Given the description of an element on the screen output the (x, y) to click on. 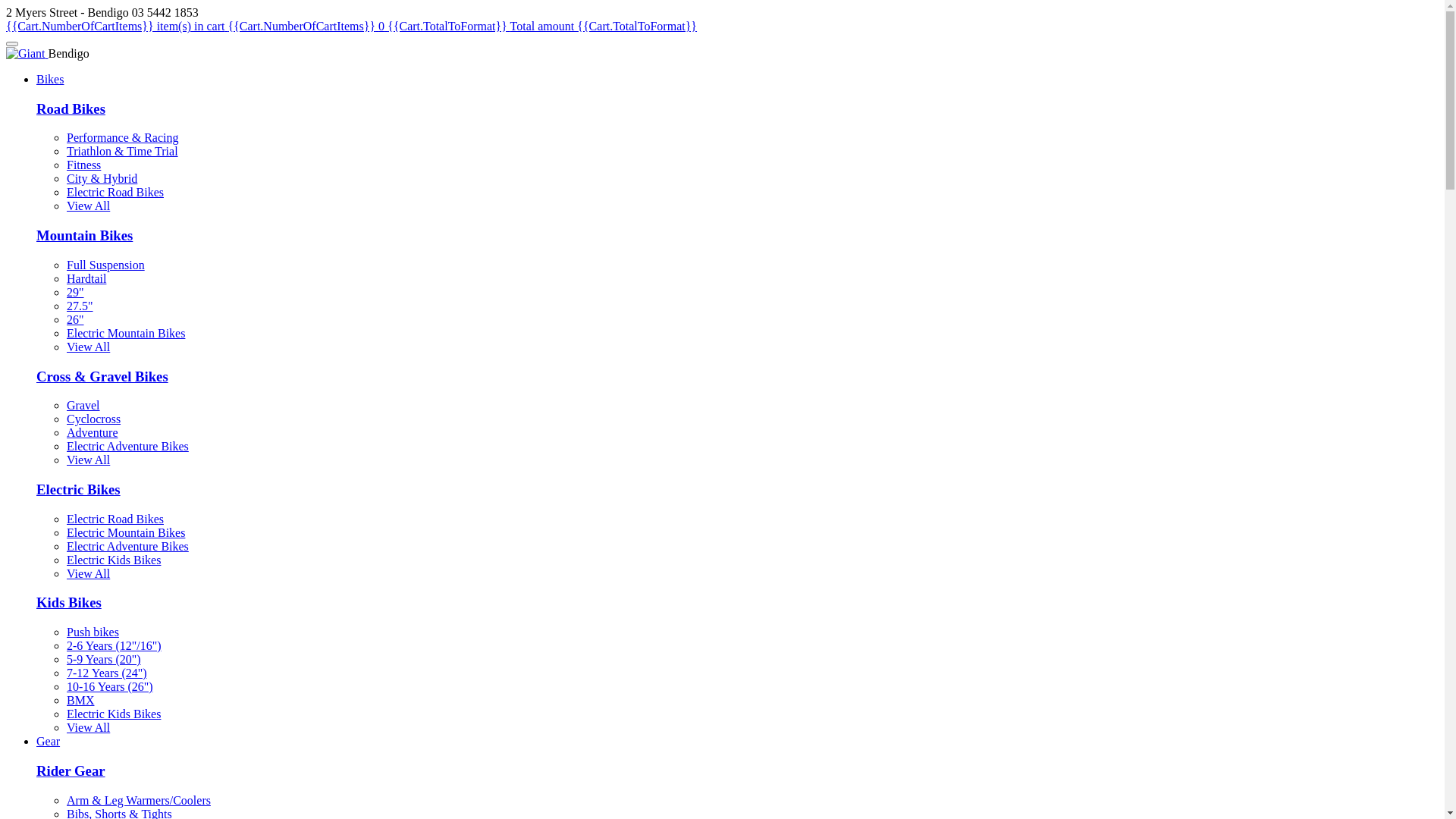
Performance & Racing Element type: text (122, 137)
BMX Element type: text (80, 699)
7-12 Years (24") Element type: text (106, 672)
Fitness Element type: text (83, 164)
2-6 Years (12"/16") Element type: text (113, 645)
View All Element type: text (87, 205)
Adventure Element type: text (92, 432)
View All Element type: text (87, 727)
Electric Road Bikes Element type: text (114, 518)
Push bikes Element type: text (92, 631)
Cross & Gravel Bikes Element type: text (102, 376)
Gravel Element type: text (83, 404)
Electric Adventure Bikes Element type: text (127, 545)
Electric Mountain Bikes Element type: text (125, 332)
Rider Gear Element type: text (70, 770)
27.5" Element type: text (79, 305)
Road Bikes Element type: text (70, 108)
Arm & Leg Warmers/Coolers Element type: text (138, 799)
Bikes Element type: text (49, 78)
View All Element type: text (87, 573)
Electric Bikes Element type: text (78, 489)
Kids Bikes Element type: text (68, 602)
View All Element type: text (87, 346)
Electric Mountain Bikes Element type: text (125, 532)
Mountain Bikes Element type: text (84, 235)
Electric Kids Bikes Element type: text (113, 559)
Electric Kids Bikes Element type: text (113, 713)
26" Element type: text (75, 319)
Gear Element type: text (47, 740)
View All Element type: text (87, 459)
Electric Road Bikes Element type: text (114, 191)
Hardtail Element type: text (86, 278)
Triathlon & Time Trial Element type: text (122, 150)
Cyclocross Element type: text (93, 418)
5-9 Years (20") Element type: text (103, 658)
City & Hybrid Element type: text (101, 178)
Electric Adventure Bikes Element type: text (127, 445)
10-16 Years (26") Element type: text (109, 686)
Full Suspension Element type: text (105, 264)
29" Element type: text (75, 291)
